Given the description of an element on the screen output the (x, y) to click on. 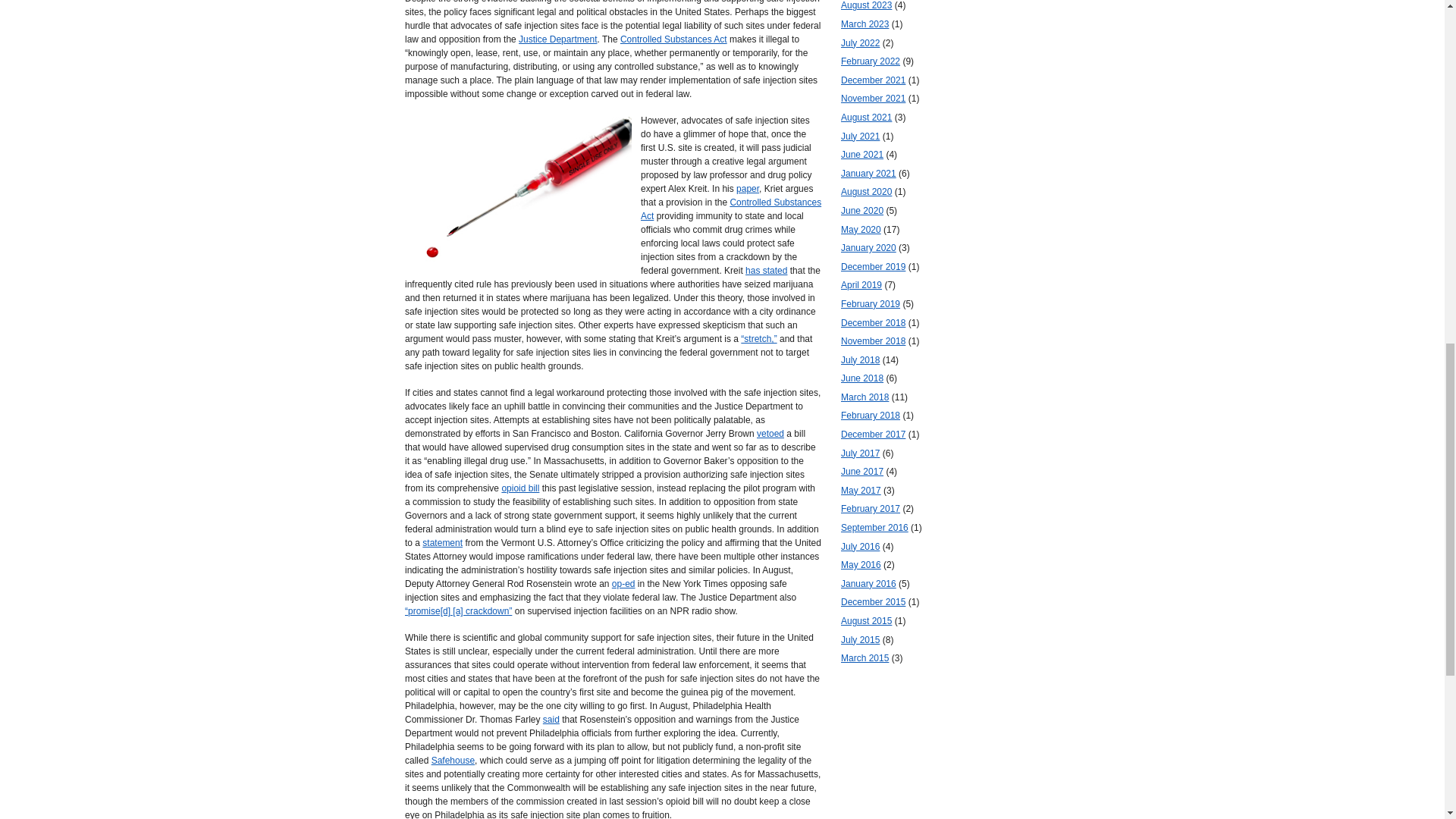
paper (747, 188)
has stated (766, 270)
op-ed (622, 583)
opioid bill (519, 488)
Controlled Substances Act (673, 39)
vetoed (770, 433)
Justice Department (557, 39)
statement (442, 542)
Controlled Substances Act (730, 209)
